Given the description of an element on the screen output the (x, y) to click on. 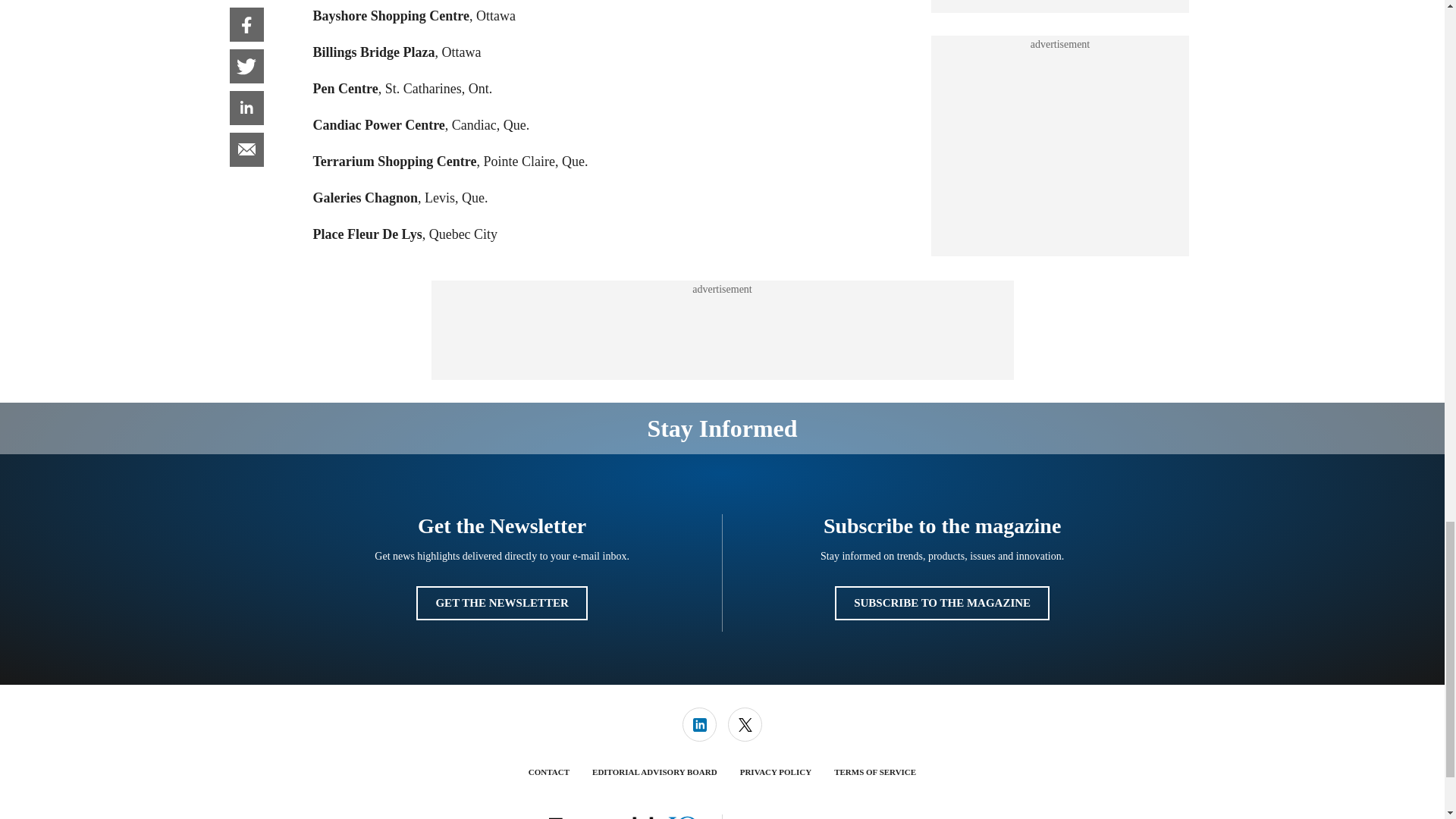
3rd party ad content (721, 330)
